Given the description of an element on the screen output the (x, y) to click on. 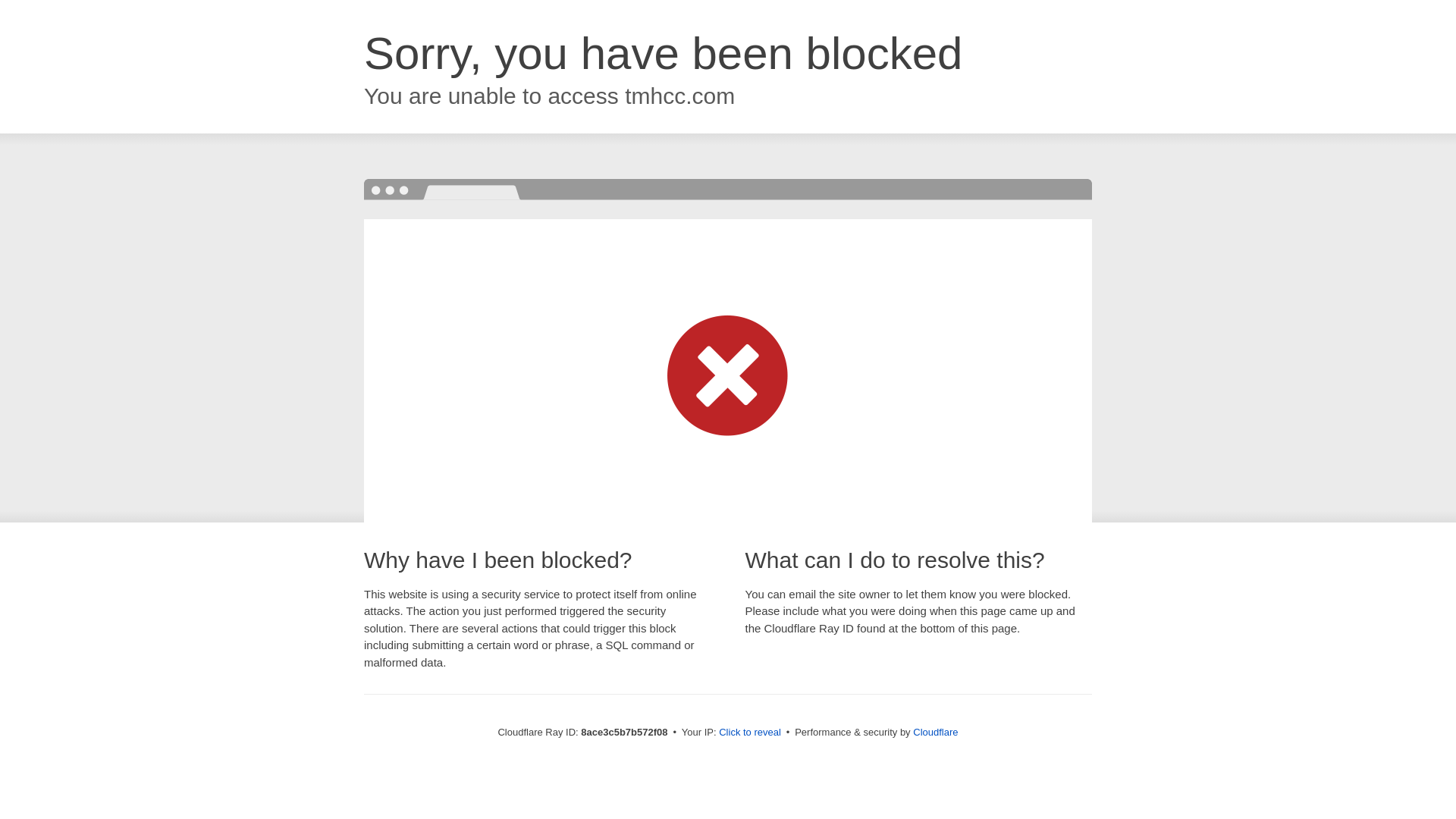
Click to reveal (749, 732)
Cloudflare (935, 731)
